Given the description of an element on the screen output the (x, y) to click on. 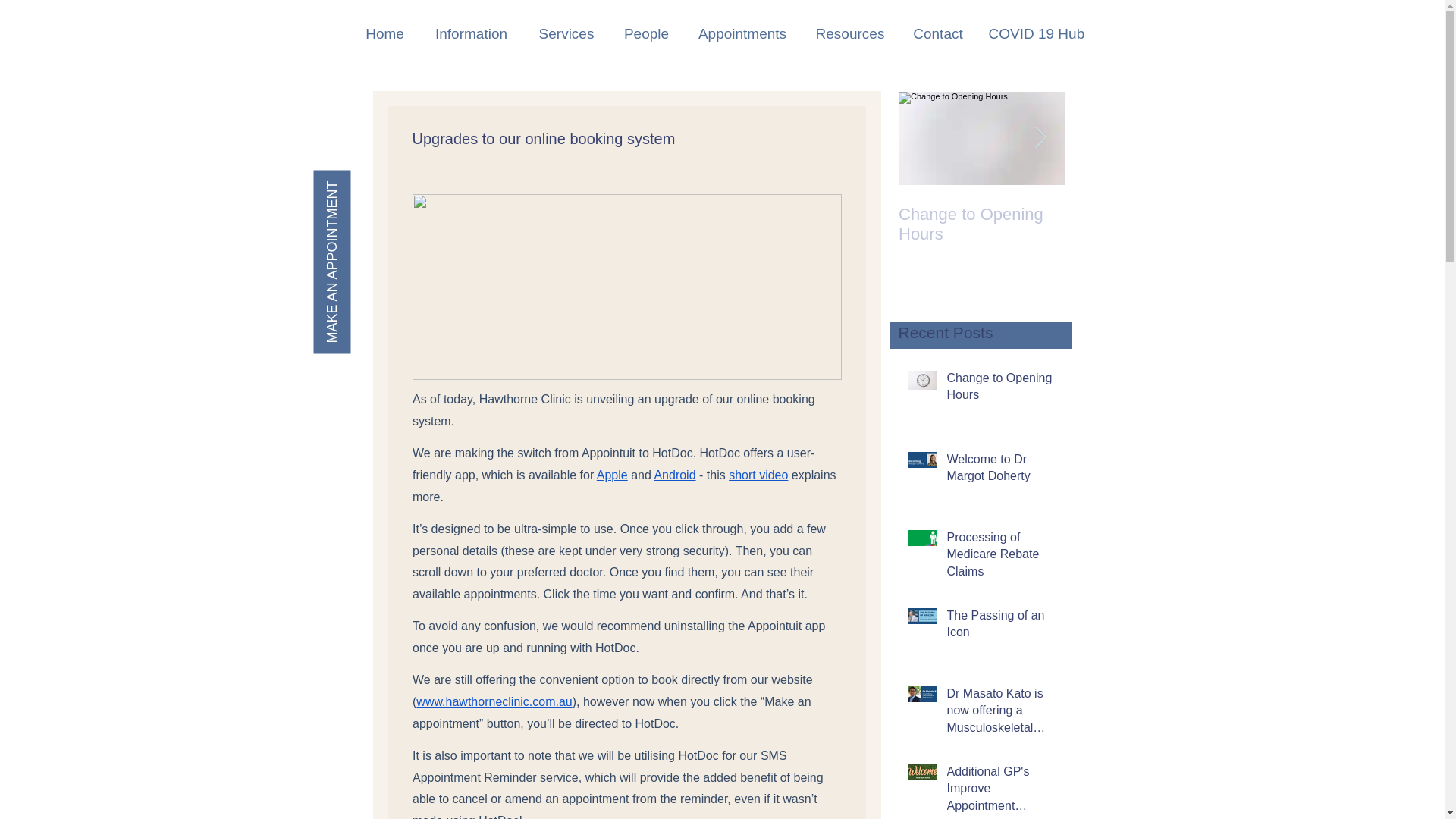
Home (384, 33)
www.hawthorneclinic.com.au (494, 701)
Processing of Medicare Rebate Claims (1000, 557)
Change to Opening Hours (981, 224)
Services (565, 33)
MAKE AN APPOINTMENT (404, 188)
short video (758, 474)
Appointments (743, 33)
People (647, 33)
Information (470, 33)
Welcome to Dr Margot Doherty (1147, 224)
Resources (849, 33)
COVID 19 Hub (1034, 33)
Apple (611, 474)
